Given the description of an element on the screen output the (x, y) to click on. 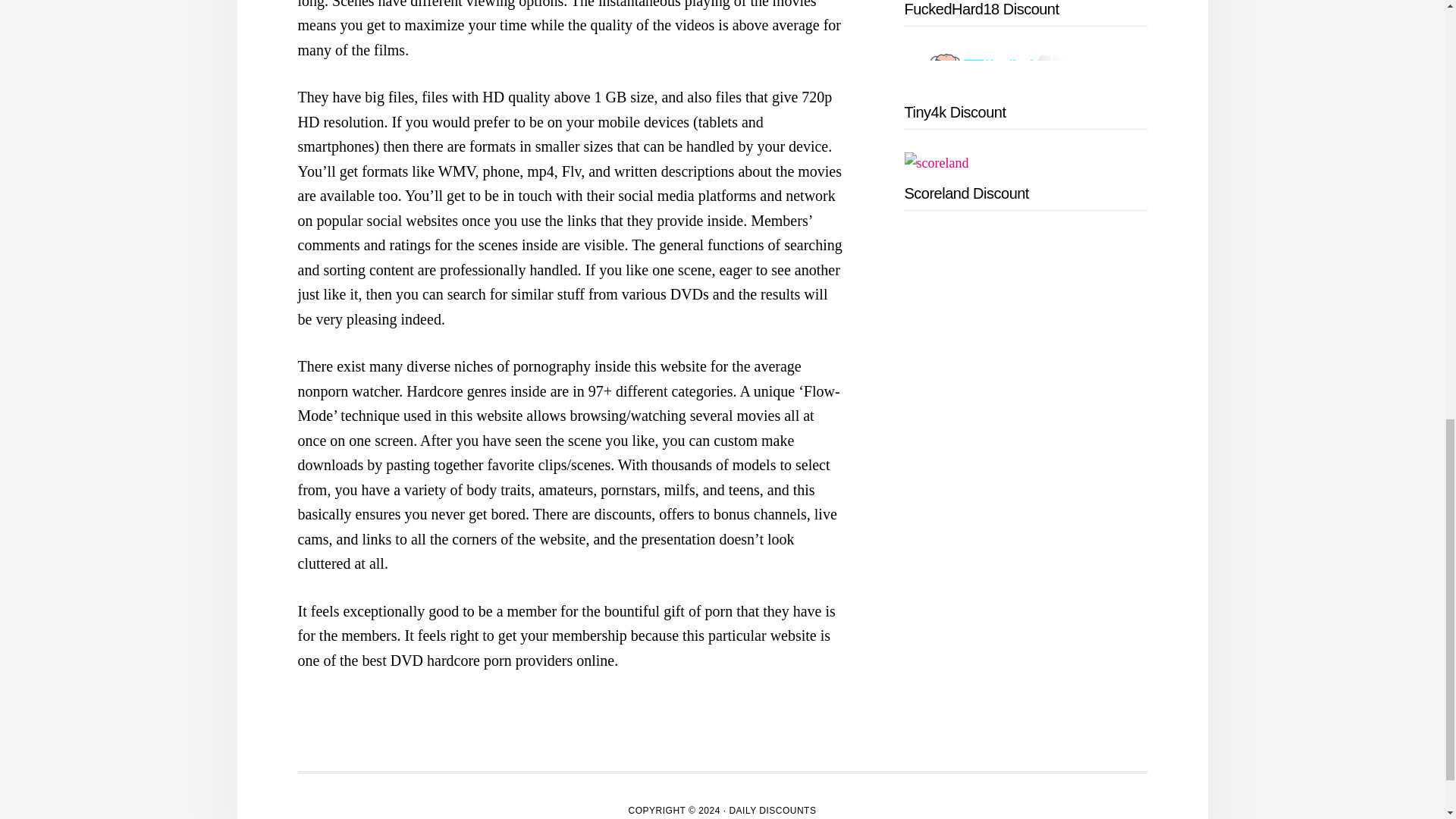
Tiny4k Discount (955, 112)
FuckedHard18 Discount (981, 8)
Scoreland Discount (965, 193)
